Given the description of an element on the screen output the (x, y) to click on. 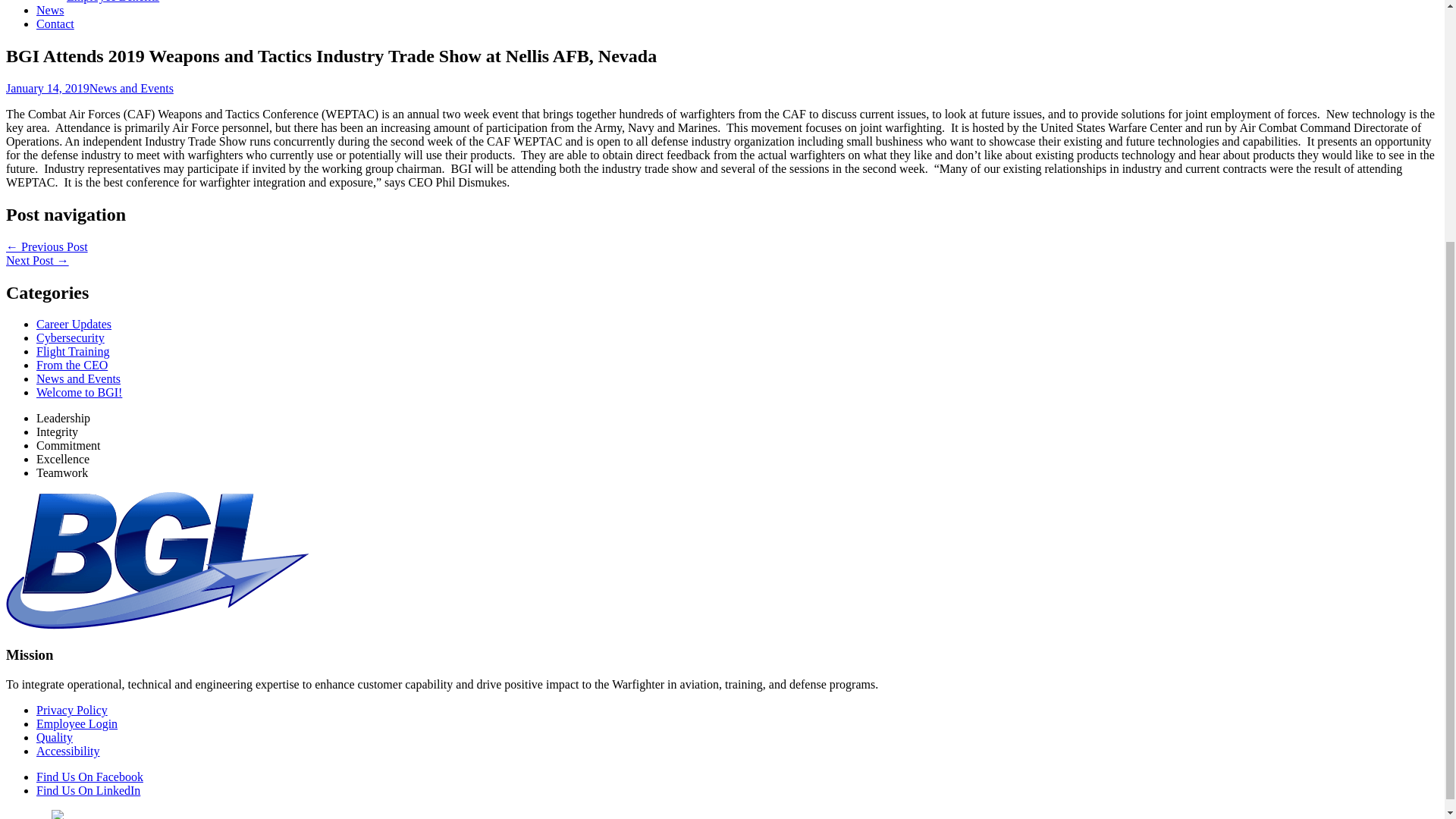
From the CEO (71, 364)
Find Us On LinkedIn (87, 789)
Career Updates (74, 323)
Cybersecurity (70, 337)
Quality (54, 737)
News and Events (130, 88)
Contact (55, 23)
News and Events (78, 378)
Accessibility (68, 750)
Privacy Policy (71, 709)
January 14, 2019 (46, 88)
Employee Login (76, 723)
News (50, 10)
Find Us On Facebook (89, 776)
Employee Benefits (112, 1)
